Given the description of an element on the screen output the (x, y) to click on. 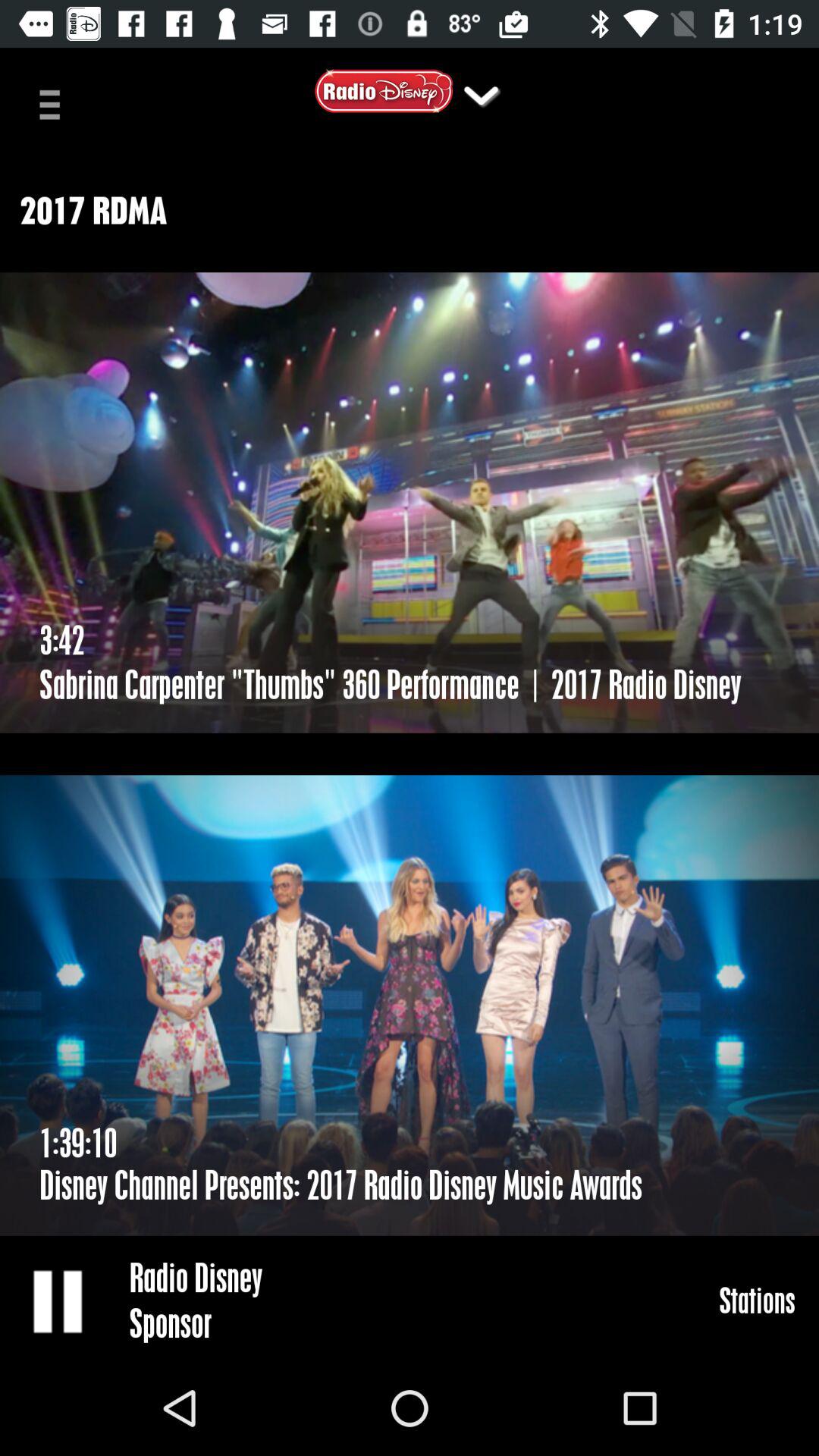
turn on icon to the left of the radio disney item (59, 1300)
